Given the description of an element on the screen output the (x, y) to click on. 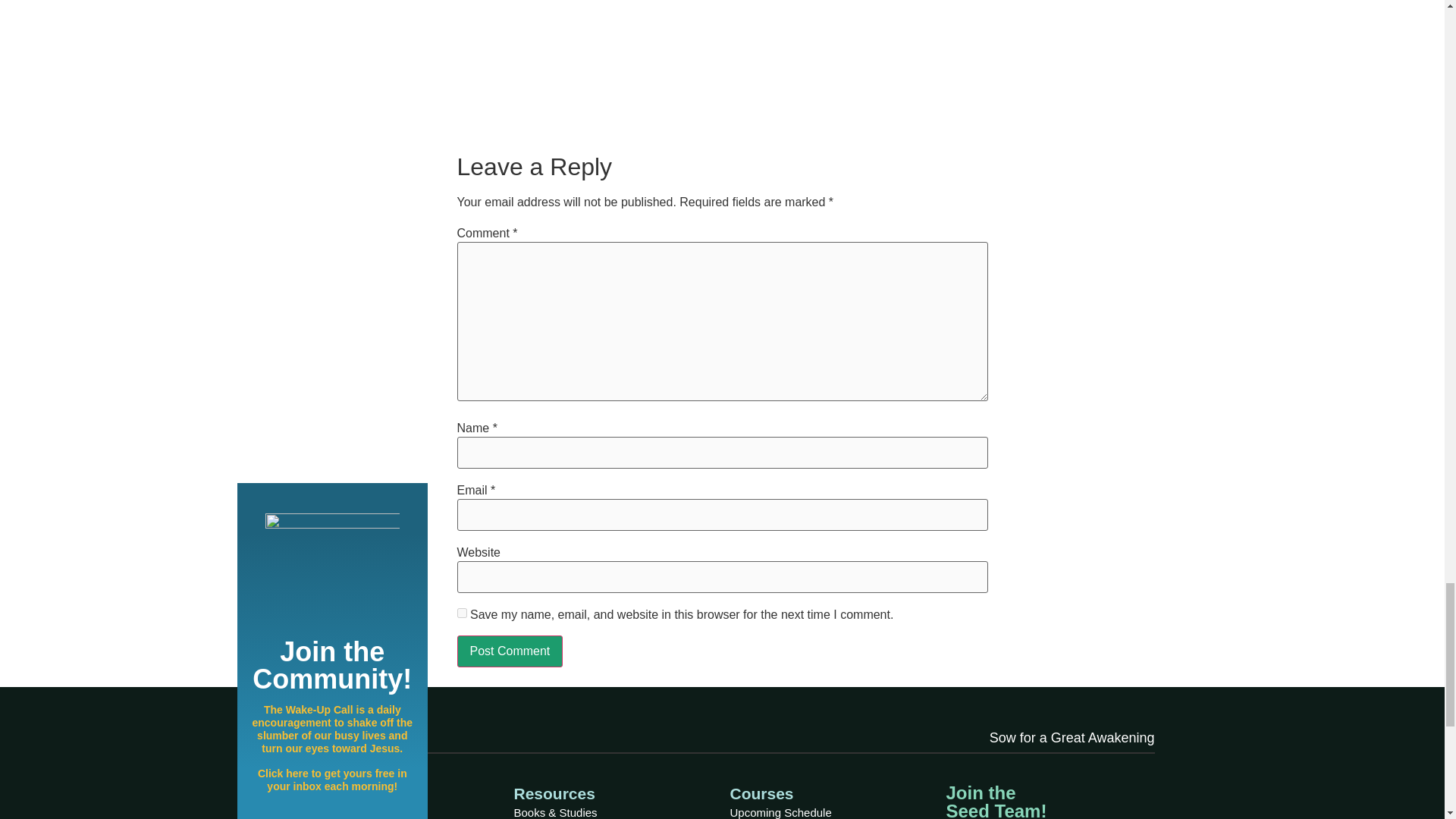
yes (461, 613)
Post Comment (509, 651)
